Given the description of an element on the screen output the (x, y) to click on. 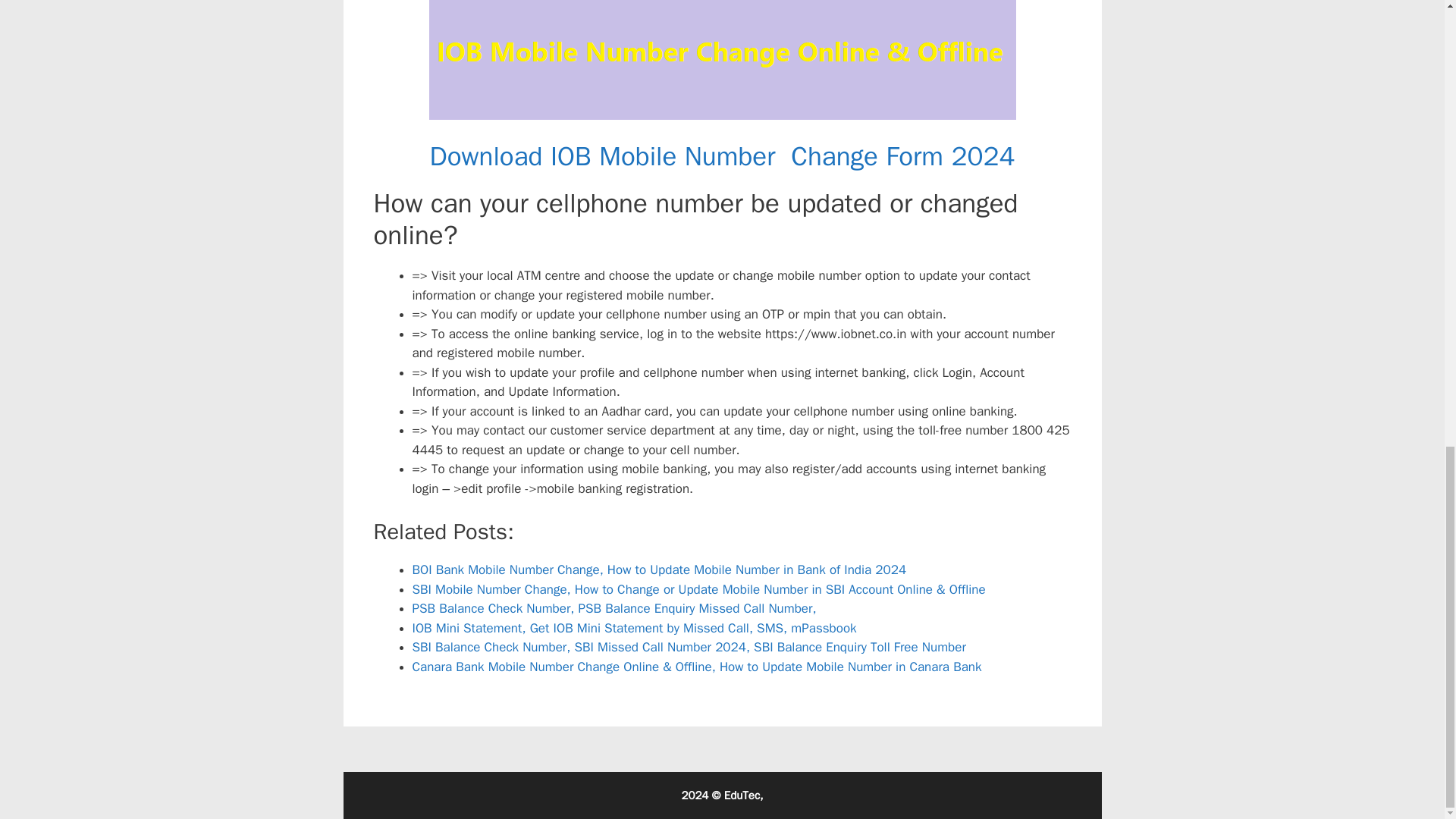
Form 2024 (949, 155)
Download IOB Mobile Number  Change (653, 155)
